Given the description of an element on the screen output the (x, y) to click on. 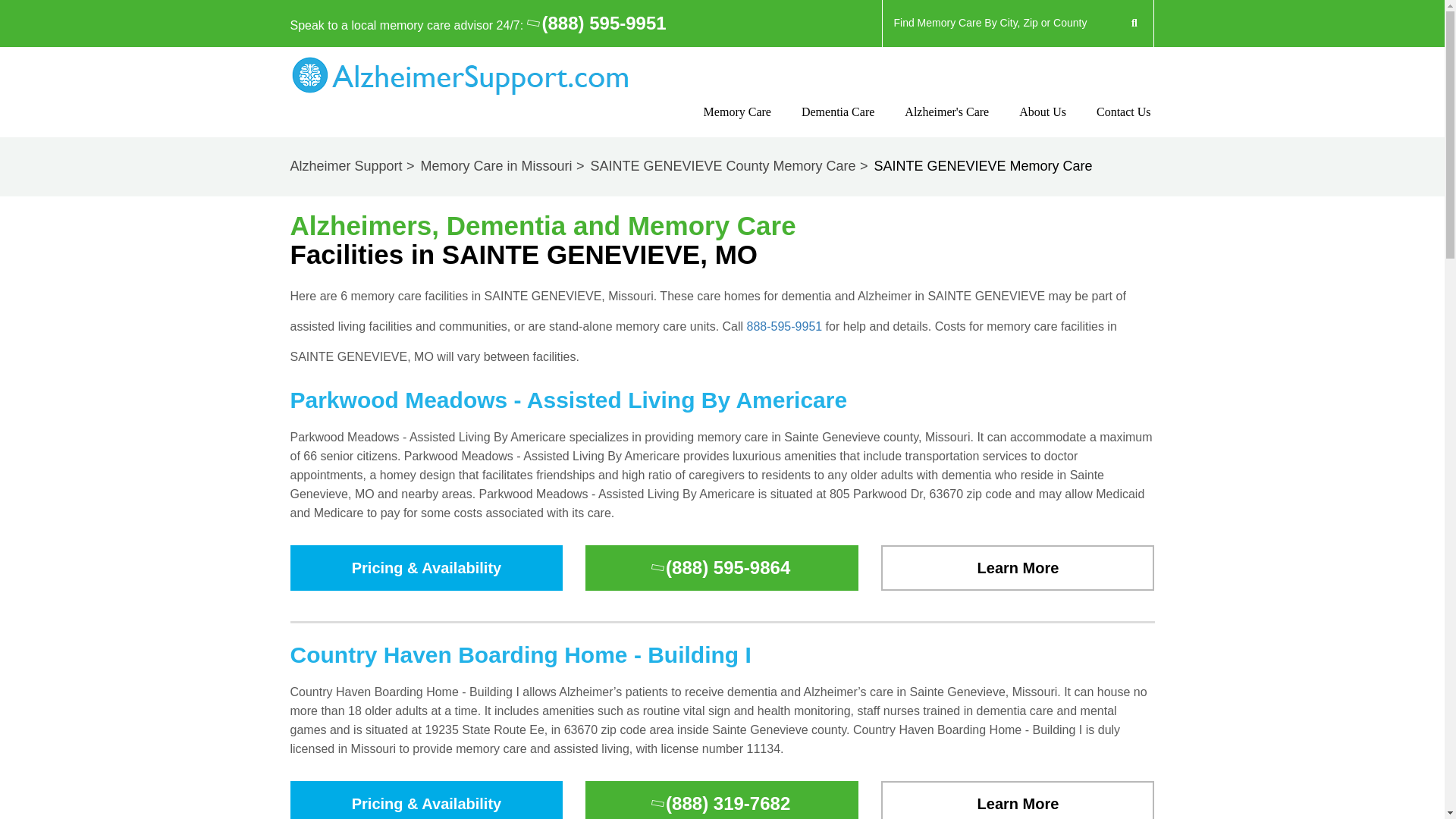
Memory Care (737, 124)
Learn More (1017, 800)
Alzheimer's Care (946, 124)
Dementia Care (838, 124)
Memory Care in Missouri (503, 165)
Dementia Care (838, 124)
Learn More (1017, 568)
Learn More (1017, 800)
Contact Us (1123, 124)
SAINTE GENEVIEVE County Memory Care (729, 165)
Contact Us (1123, 124)
Contact Us (1042, 124)
888-595-9951 (784, 326)
Learn More (1017, 568)
Alzheimer Support (352, 165)
